Given the description of an element on the screen output the (x, y) to click on. 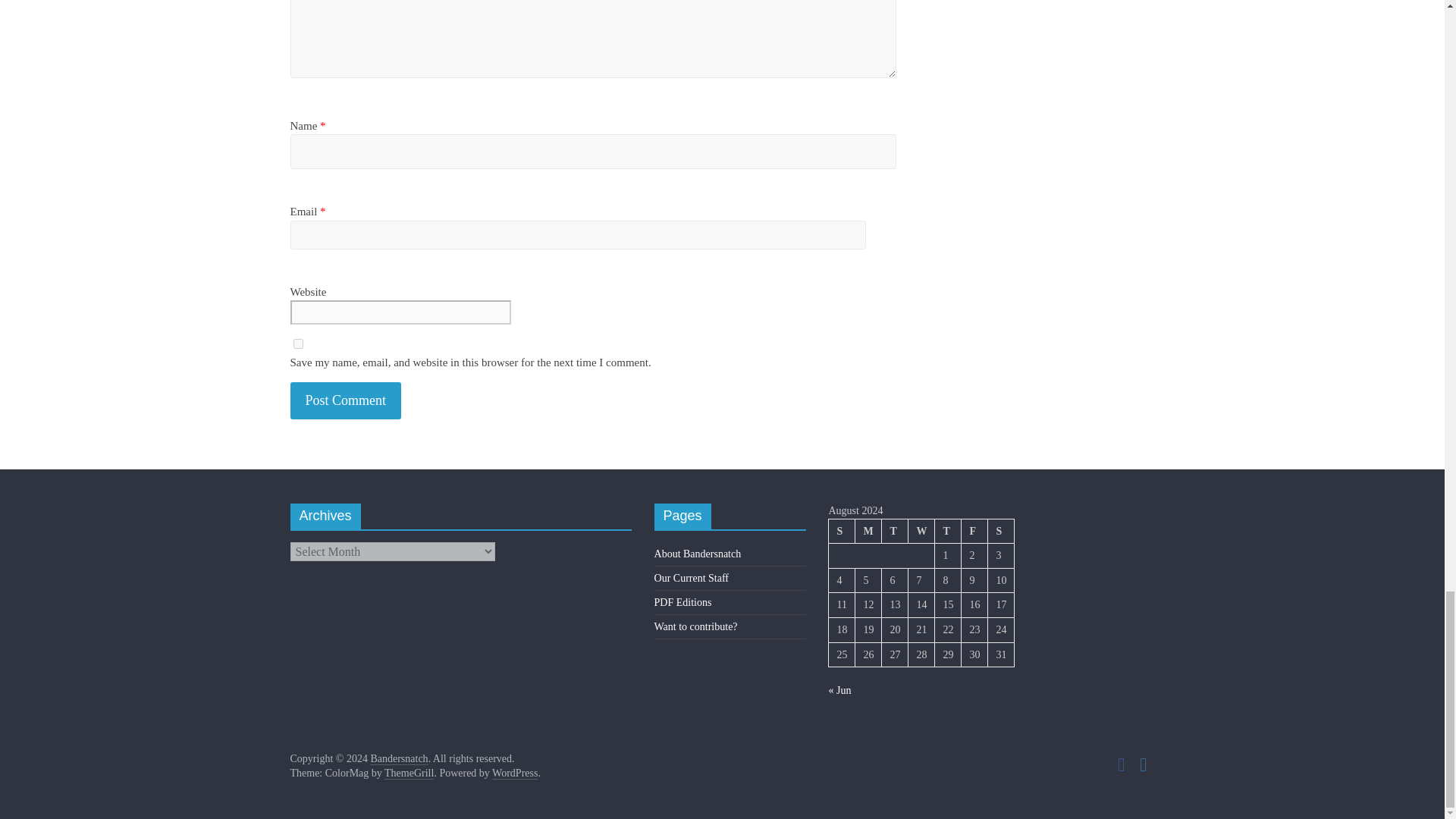
yes (297, 343)
Post Comment (345, 400)
Post Comment (345, 400)
